Given the description of an element on the screen output the (x, y) to click on. 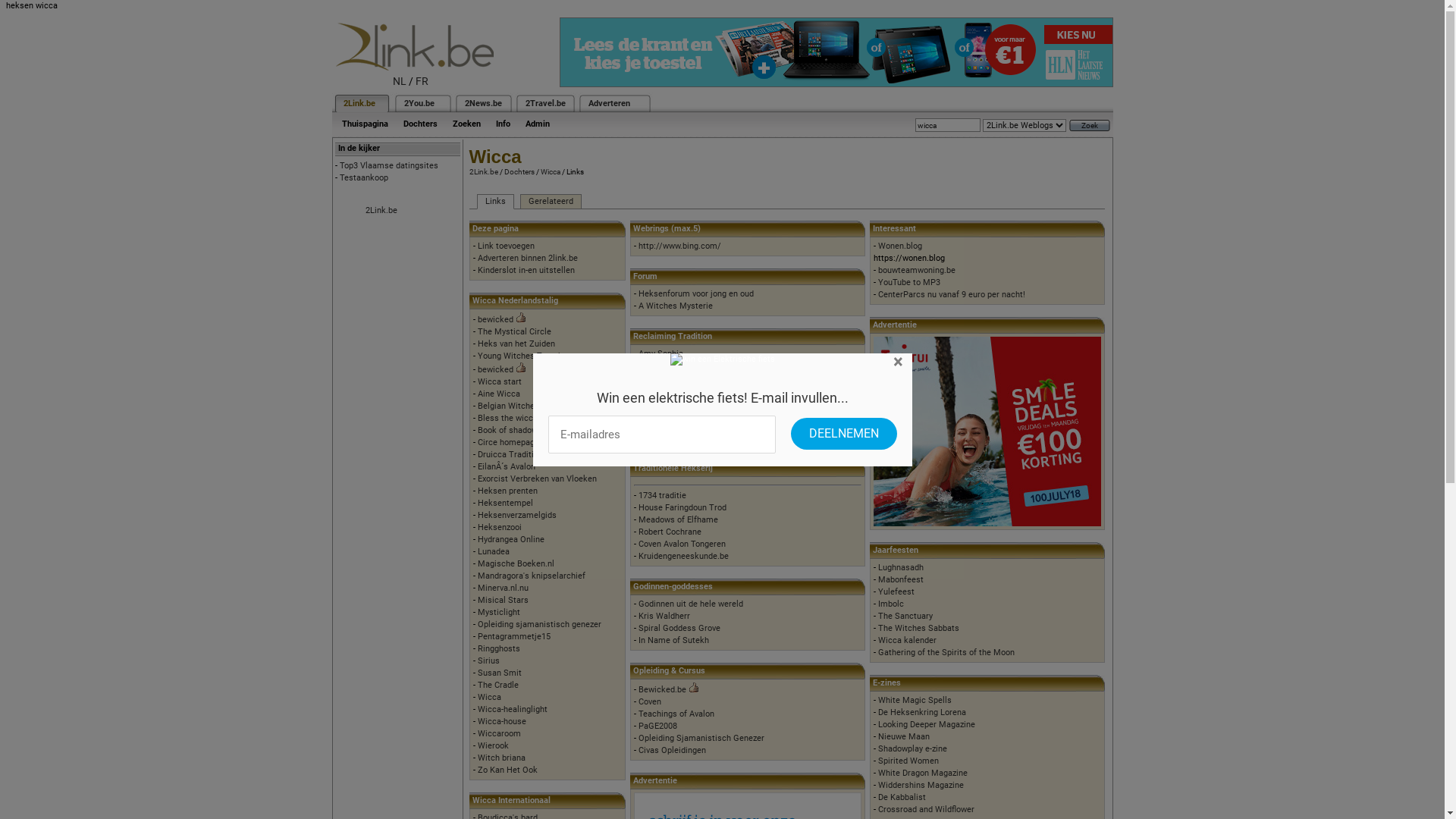
Mandragora's knipselarchief Element type: text (531, 575)
Imbolc Element type: text (890, 603)
Ringghosts Element type: text (498, 648)
Heksenforum voor jong en oud Element type: text (695, 293)
Dochters Element type: text (420, 123)
Top3 Vlaamse datingsites Element type: text (388, 165)
Heksenzooi Element type: text (499, 527)
PaGE2008 Element type: text (657, 726)
Wicca Element type: text (549, 171)
Druicca Traditie Element type: text (507, 454)
Wiccaroom Element type: text (498, 733)
Heksenverzamelgids Element type: text (516, 515)
Reclaiming homepage Element type: text (680, 377)
In Name of Sutekh Element type: text (673, 640)
Meadows of Elfhame Element type: text (678, 519)
CenterParcs nu vanaf 9 euro per nacht! Element type: text (951, 294)
Opleiding sjamanistisch genezer Element type: text (539, 624)
White Magic Spells Element type: text (914, 700)
Crossroad and Wildflower Element type: text (926, 809)
The Witches Sabbats Element type: text (918, 628)
Exorcist Verbreken van Vloeken Element type: text (536, 478)
Susan Smit Element type: text (499, 672)
Thuispagina Element type: text (364, 123)
Aine Wicca Element type: text (498, 393)
Civas Opleidingen Element type: text (672, 750)
Adverteren Element type: text (609, 103)
The Sanctuary Element type: text (905, 616)
Coven Element type: text (649, 701)
Looking Deeper Magazine Element type: text (926, 724)
bewicked Element type: text (495, 319)
Wicca kalender Element type: text (907, 640)
Mysticlight Element type: text (498, 612)
De Heksenkring Lorena Element type: text (922, 712)
Links Element type: text (494, 201)
Heks van het Zuiden Element type: text (516, 343)
Hydrangea Online Element type: text (510, 539)
Kruidengeneeskunde.be Element type: text (683, 556)
2You.be Element type: text (418, 103)
Dochters Element type: text (518, 171)
FR Element type: text (421, 81)
Testaankoop Element type: text (363, 177)
Kris Waldherr Element type: text (664, 616)
Widdershins Magazine Element type: text (920, 785)
Info Element type: text (502, 123)
Circe homepage Element type: text (508, 442)
2Link.be Element type: text (381, 210)
Robert Cochrane Element type: text (669, 531)
Teachings of Avalon Element type: text (676, 713)
Zoek Element type: text (1089, 125)
Rae Beth Element type: text (655, 425)
Admin Element type: text (536, 123)
http://www.bing.com/ Element type: text (679, 246)
Mabonfeest Element type: text (900, 579)
YouTube to MP3 Element type: text (909, 282)
Magische Boeken.nl Element type: text (515, 563)
Lughnasadh Element type: text (900, 567)
Wicca Element type: text (489, 697)
Grimoire van Levana Element type: text (676, 437)
Zoeken Element type: text (465, 123)
Gerelateerd Element type: text (550, 201)
Lunadea Element type: text (493, 551)
House Faringdoun Trod Element type: text (682, 507)
Book of shadows Element type: text (509, 430)
Opleiding Sjamanistisch Genezer Element type: text (701, 738)
Misical Stars Element type: text (502, 600)
Bless the wicca Element type: text (507, 418)
Wicca-healinglight Element type: text (512, 709)
Yulefeest Element type: text (896, 591)
2Link.be Element type: text (358, 103)
Kinderslot in-en uitstellen Element type: text (525, 270)
The Cradle Element type: text (497, 685)
Nieuwe Maan Element type: text (903, 736)
Spirited Women Element type: text (908, 760)
A Witches Mysterie Element type: text (675, 305)
White Dragon Magazine Element type: text (922, 773)
The Mystical Circle Element type: text (514, 331)
Wonen.blog Element type: text (900, 246)
NL Element type: text (399, 81)
Minerva.nl.nu Element type: text (502, 588)
Wicca-house Element type: text (501, 721)
1734 traditie Element type: text (662, 495)
2Travel.be Element type: text (544, 103)
Belgian Witches 2 Element type: text (511, 406)
bewicked Element type: text (495, 369)
Coven Avalon Tongeren Element type: text (681, 544)
Young Witches Together Element type: text (523, 355)
2Link.be Element type: text (482, 171)
Heksentempel Element type: text (505, 503)
Pentagrammetje15 Element type: text (513, 636)
Covenant of the Goddess Element type: text (685, 365)
Adverteren binnen 2link.be Element type: text (527, 258)
bouwteamwoning.be Element type: text (916, 270)
De Kabbalist Element type: text (901, 797)
Link toevoegen Element type: text (505, 246)
Witch briana Element type: text (501, 757)
Shadowplay e-zine Element type: text (912, 748)
Sirius Element type: text (488, 660)
Godinnen uit de hele wereld Element type: text (690, 603)
Wicca start Element type: text (499, 381)
Amy Sophia Element type: text (660, 353)
Bewicked.be Element type: text (662, 689)
Heksen prenten Element type: text (507, 490)
Zo Kan Het Ook Element type: text (507, 770)
Wierook Element type: text (492, 745)
Gathering of the Spirits of the Moon Element type: text (946, 652)
Spiral Goddess Grove Element type: text (679, 628)
2News.be Element type: text (482, 103)
